Given the description of an element on the screen output the (x, y) to click on. 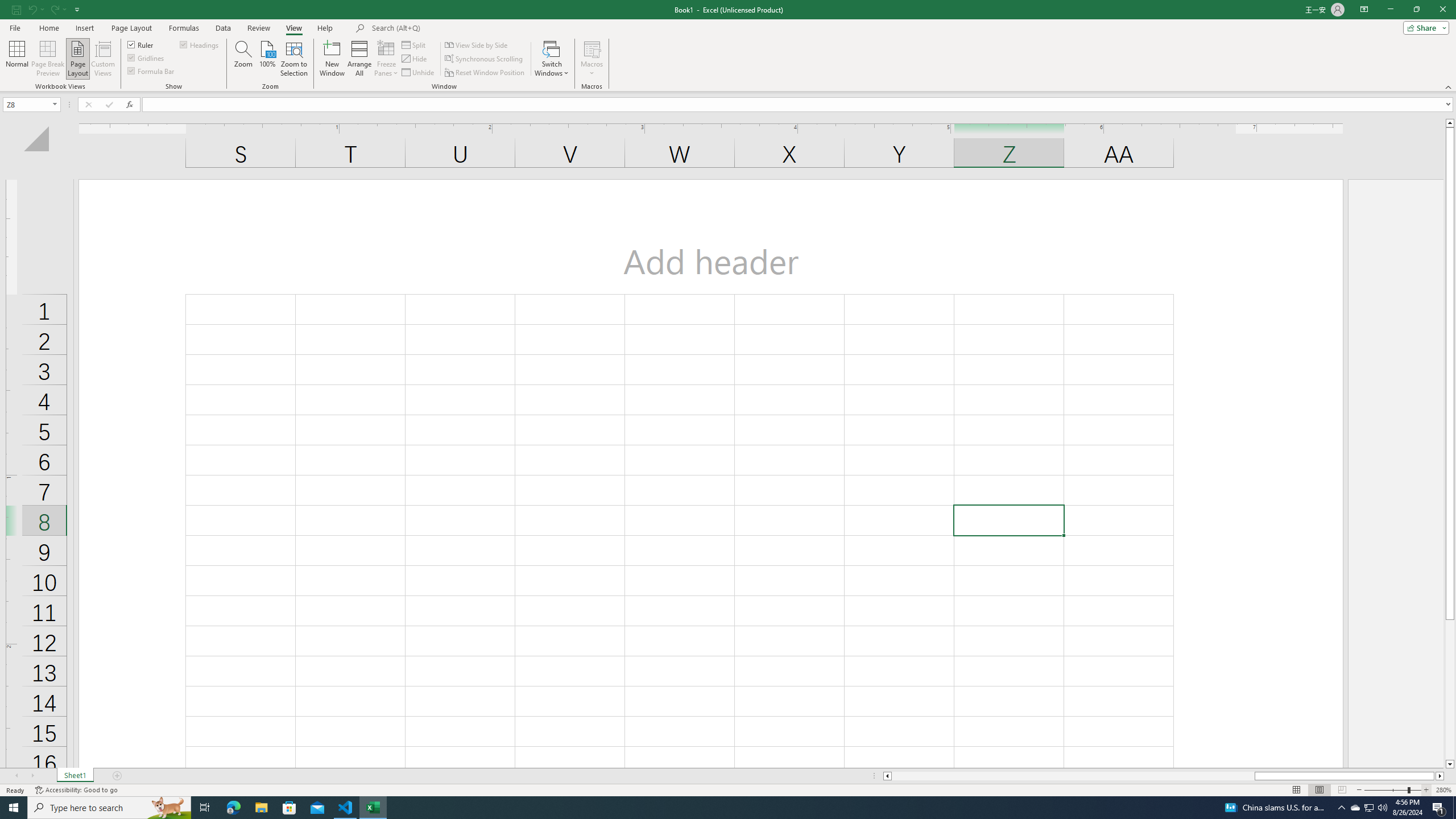
New Window (332, 58)
100% (266, 58)
Macros (591, 58)
Split (414, 44)
Hide (415, 58)
Zoom... (242, 58)
